Given the description of an element on the screen output the (x, y) to click on. 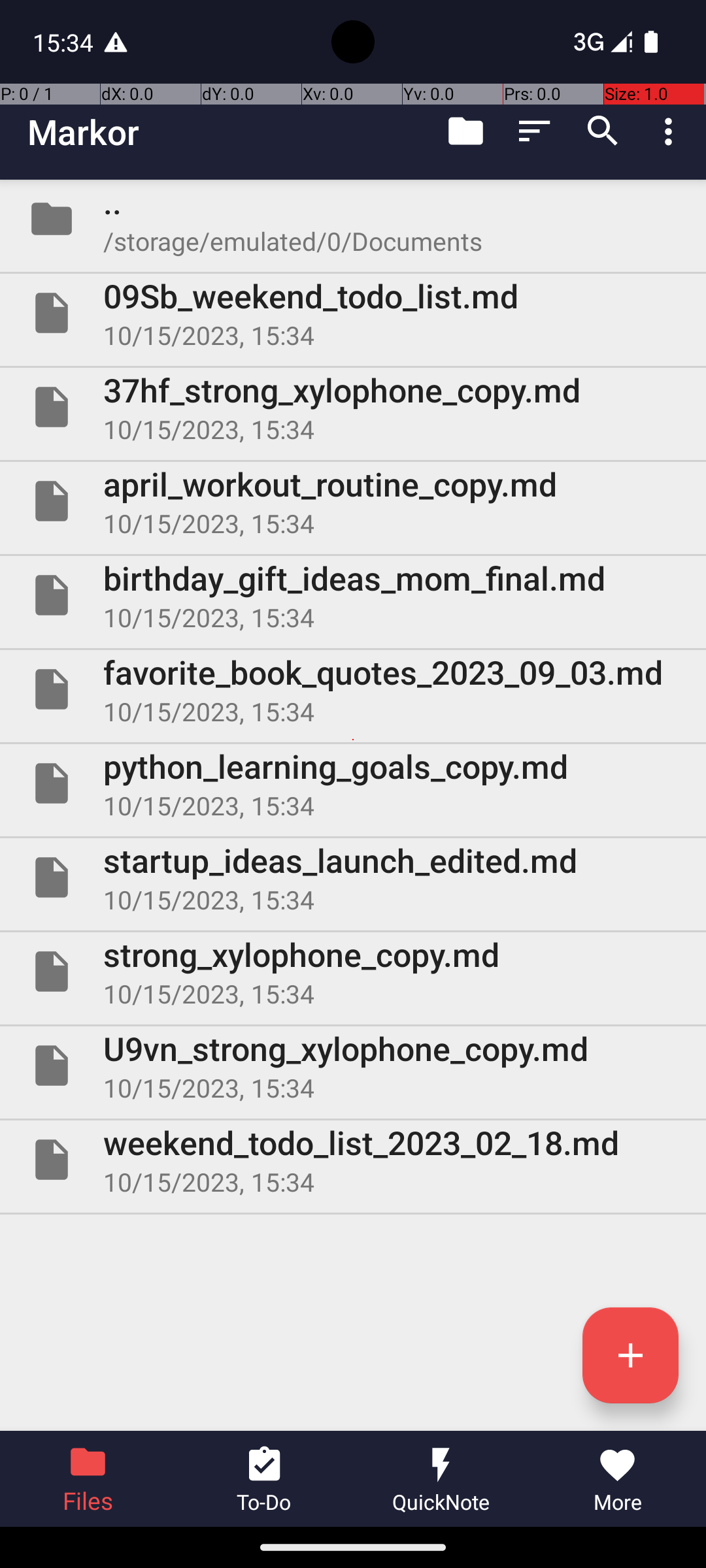
Create a new file or folder Element type: android.widget.ImageButton (630, 1355)
Markor Element type: android.widget.TextView (83, 131)
Go to Element type: android.widget.TextView (465, 131)
Sort by Element type: android.widget.TextView (534, 131)
To-Do Element type: android.widget.FrameLayout (264, 1478)
QuickNote Element type: android.widget.FrameLayout (441, 1478)
More Element type: android.widget.FrameLayout (617, 1478)
Folder ..  Element type: android.widget.LinearLayout (353, 218)
File 09Sb_weekend_todo_list.md  Element type: android.widget.LinearLayout (353, 312)
File 37hf_strong_xylophone_copy.md  Element type: android.widget.LinearLayout (353, 406)
File april_workout_routine_copy.md  Element type: android.widget.LinearLayout (353, 500)
File birthday_gift_ideas_mom_final.md  Element type: android.widget.LinearLayout (353, 594)
File favorite_book_quotes_2023_09_03.md  Element type: android.widget.LinearLayout (353, 689)
File python_learning_goals_copy.md  Element type: android.widget.LinearLayout (353, 783)
File startup_ideas_launch_edited.md  Element type: android.widget.LinearLayout (353, 877)
File strong_xylophone_copy.md  Element type: android.widget.LinearLayout (353, 971)
File U9vn_strong_xylophone_copy.md  Element type: android.widget.LinearLayout (353, 1065)
File weekend_todo_list_2023_02_18.md  Element type: android.widget.LinearLayout (353, 1159)
